Given the description of an element on the screen output the (x, y) to click on. 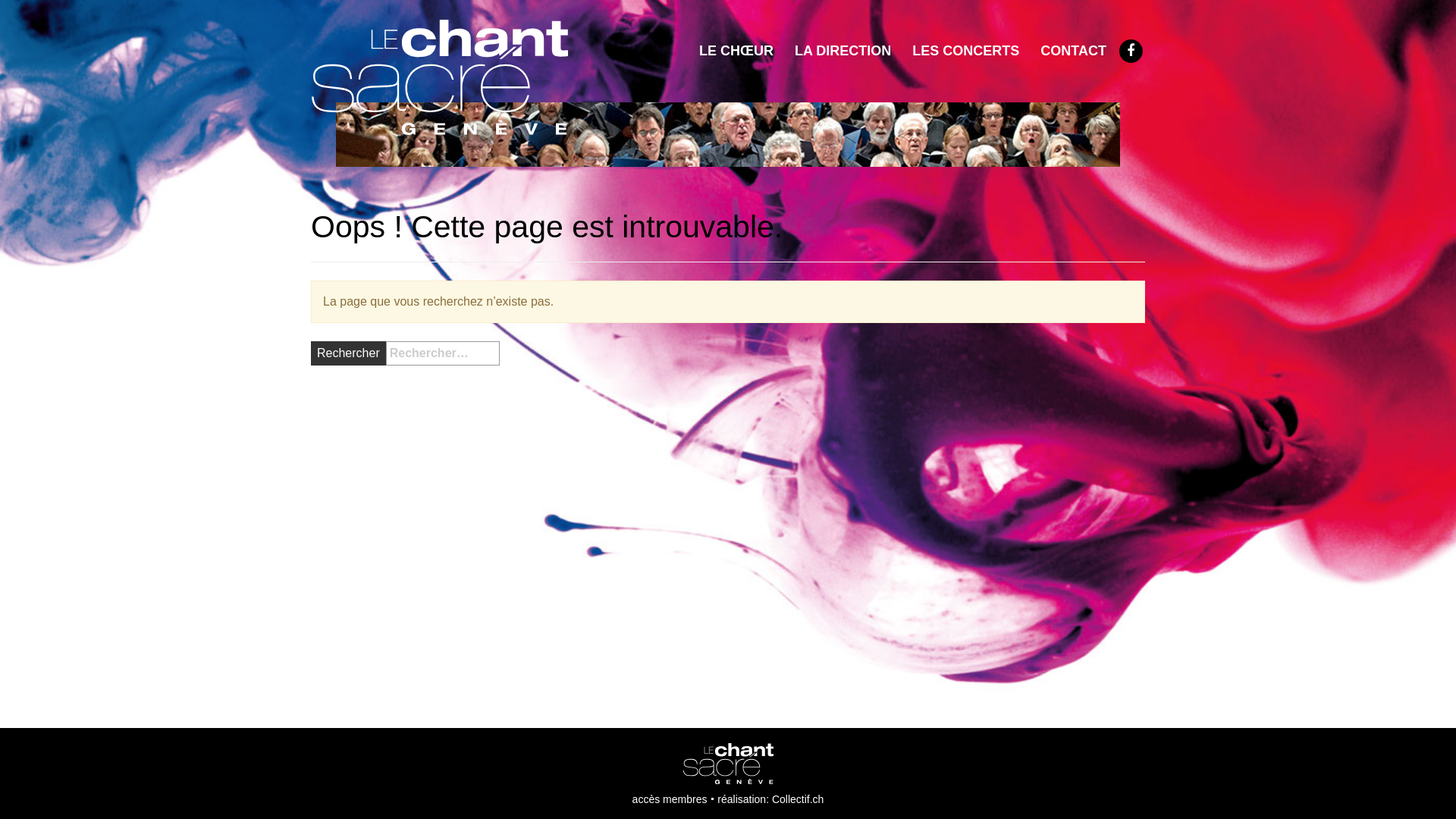
Rechercher Element type: text (347, 353)
LA DIRECTION Element type: text (842, 50)
LES CONCERTS Element type: text (965, 50)
Facebook Element type: hover (1130, 50)
CONTACT Element type: text (1073, 50)
Collectif.ch Element type: text (797, 799)
